Given the description of an element on the screen output the (x, y) to click on. 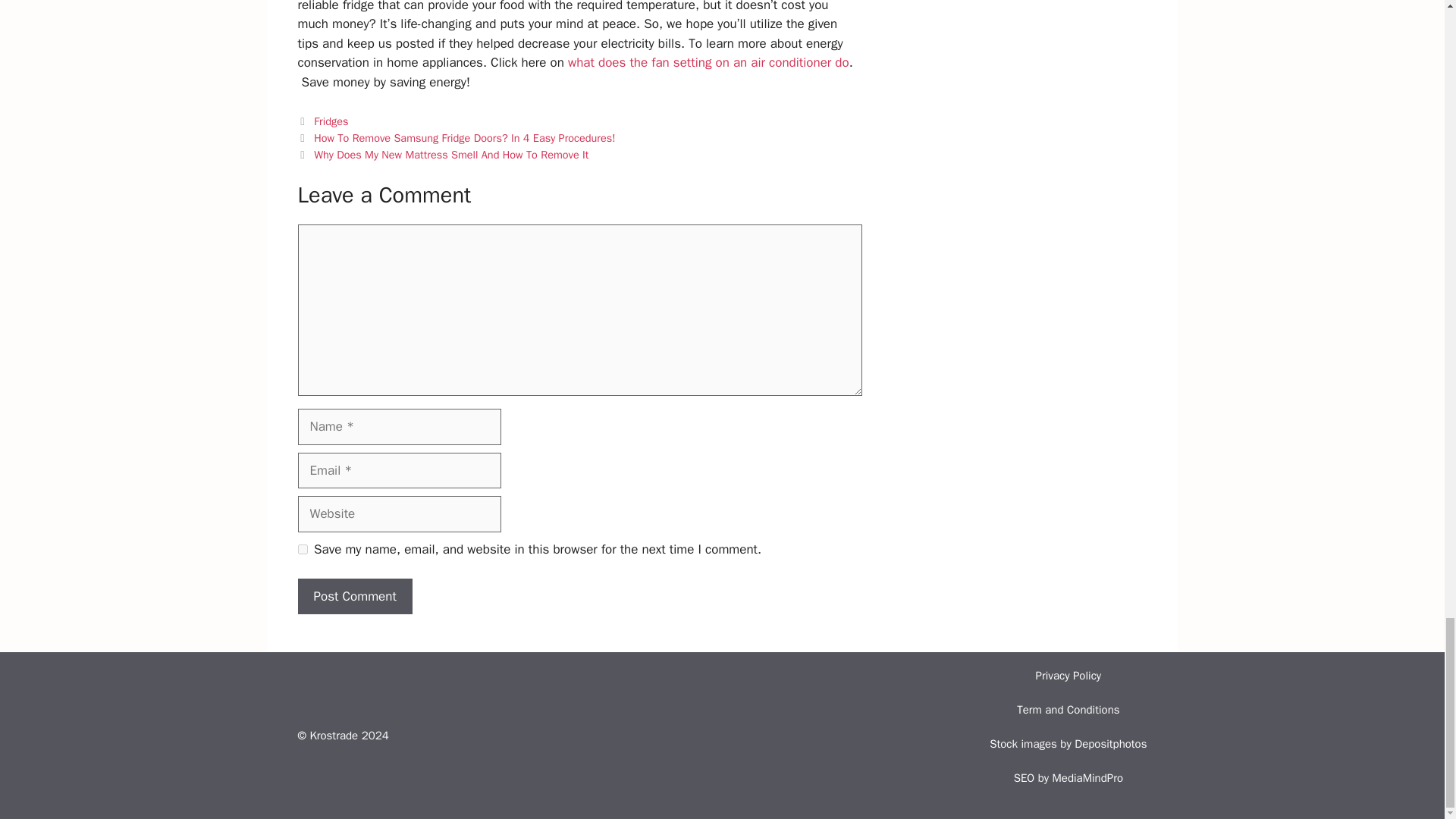
yes (302, 549)
Post Comment (354, 596)
